Given the description of an element on the screen output the (x, y) to click on. 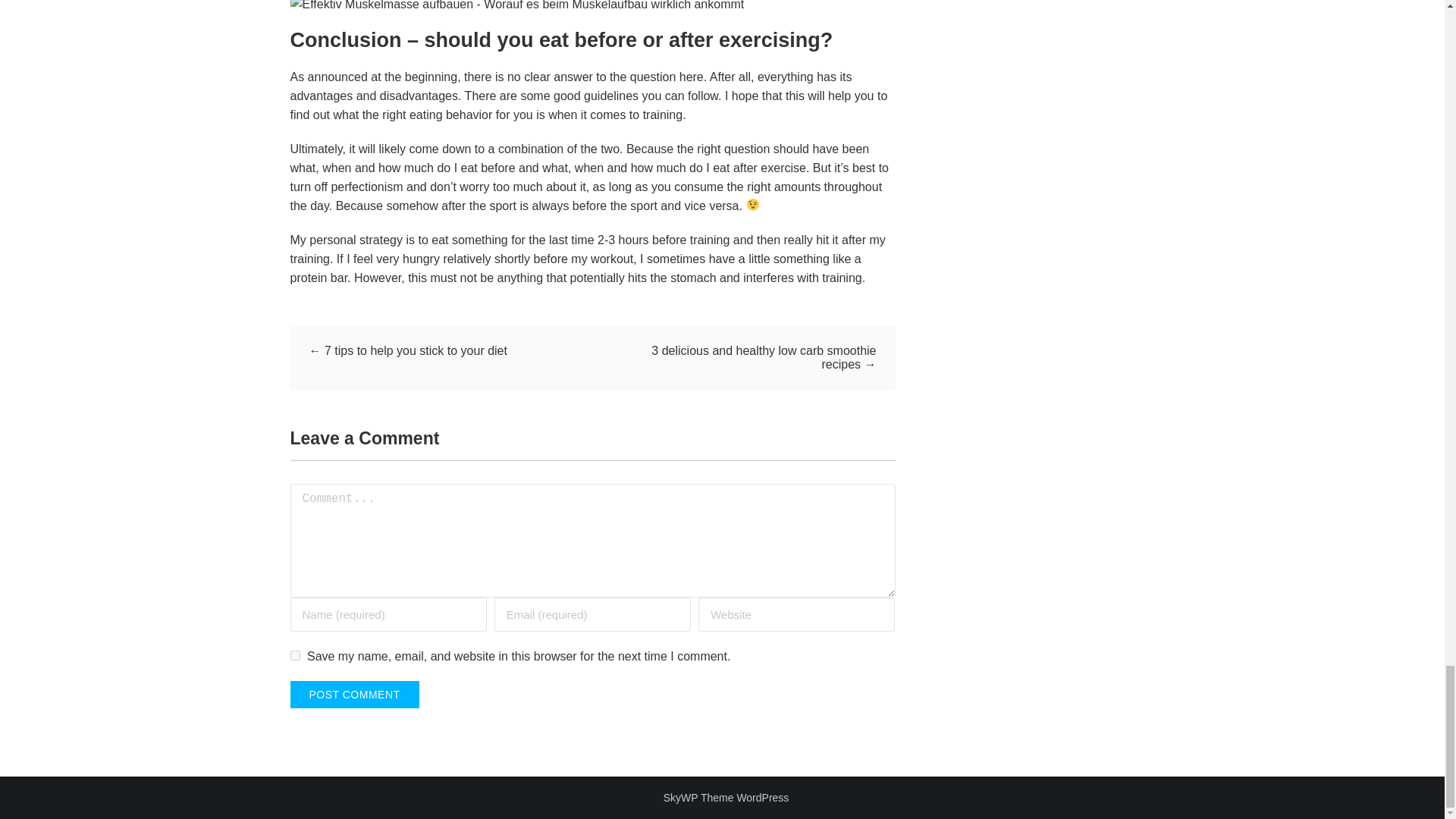
Post Comment (354, 694)
yes (294, 655)
